Given the description of an element on the screen output the (x, y) to click on. 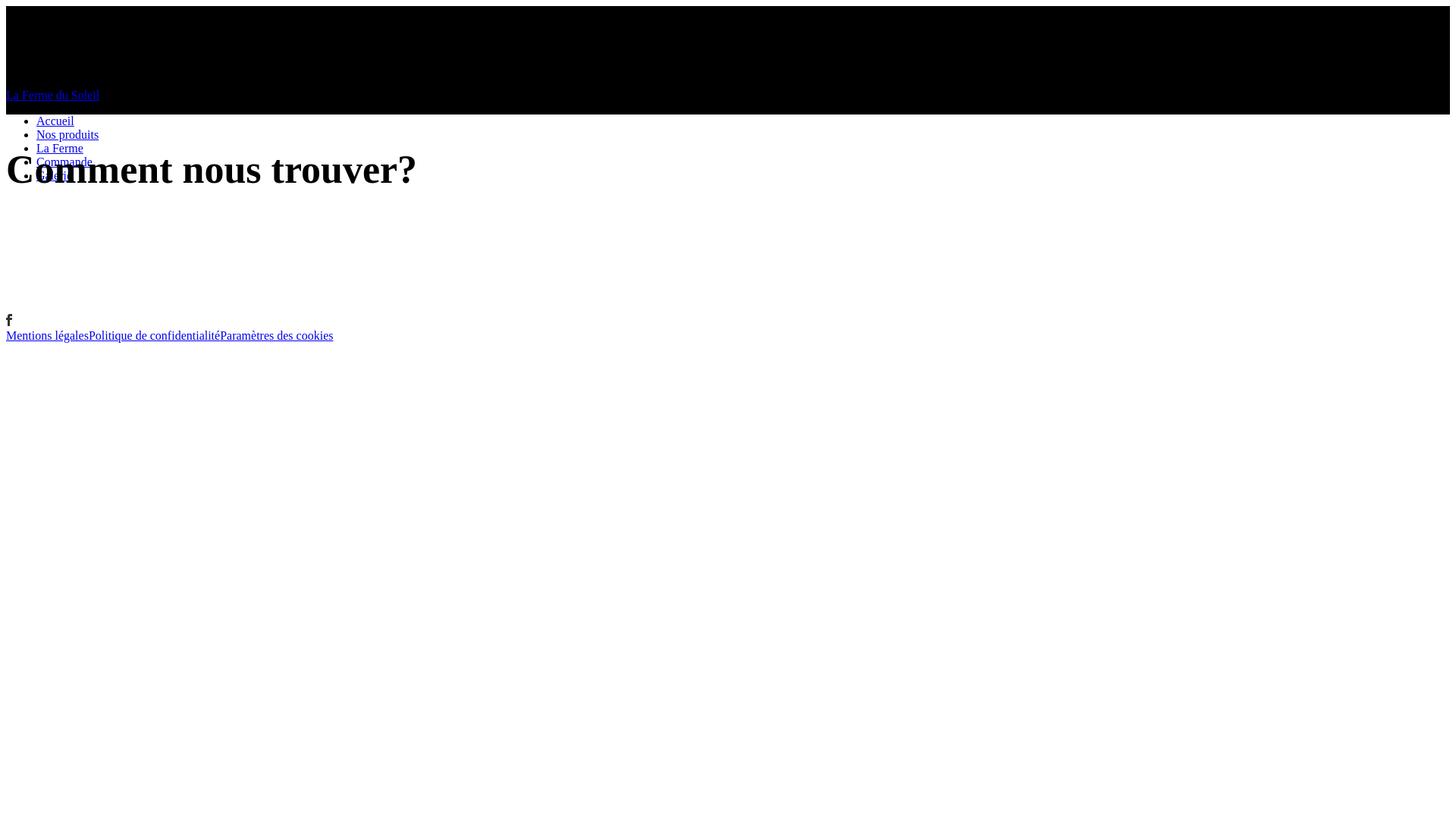
Accueil Element type: text (55, 120)
La Ferme Element type: text (59, 147)
Galerie Element type: text (54, 175)
Commande Element type: text (64, 161)
La Ferme du Soleil Element type: text (727, 95)
Nos produits Element type: text (67, 134)
